Given the description of an element on the screen output the (x, y) to click on. 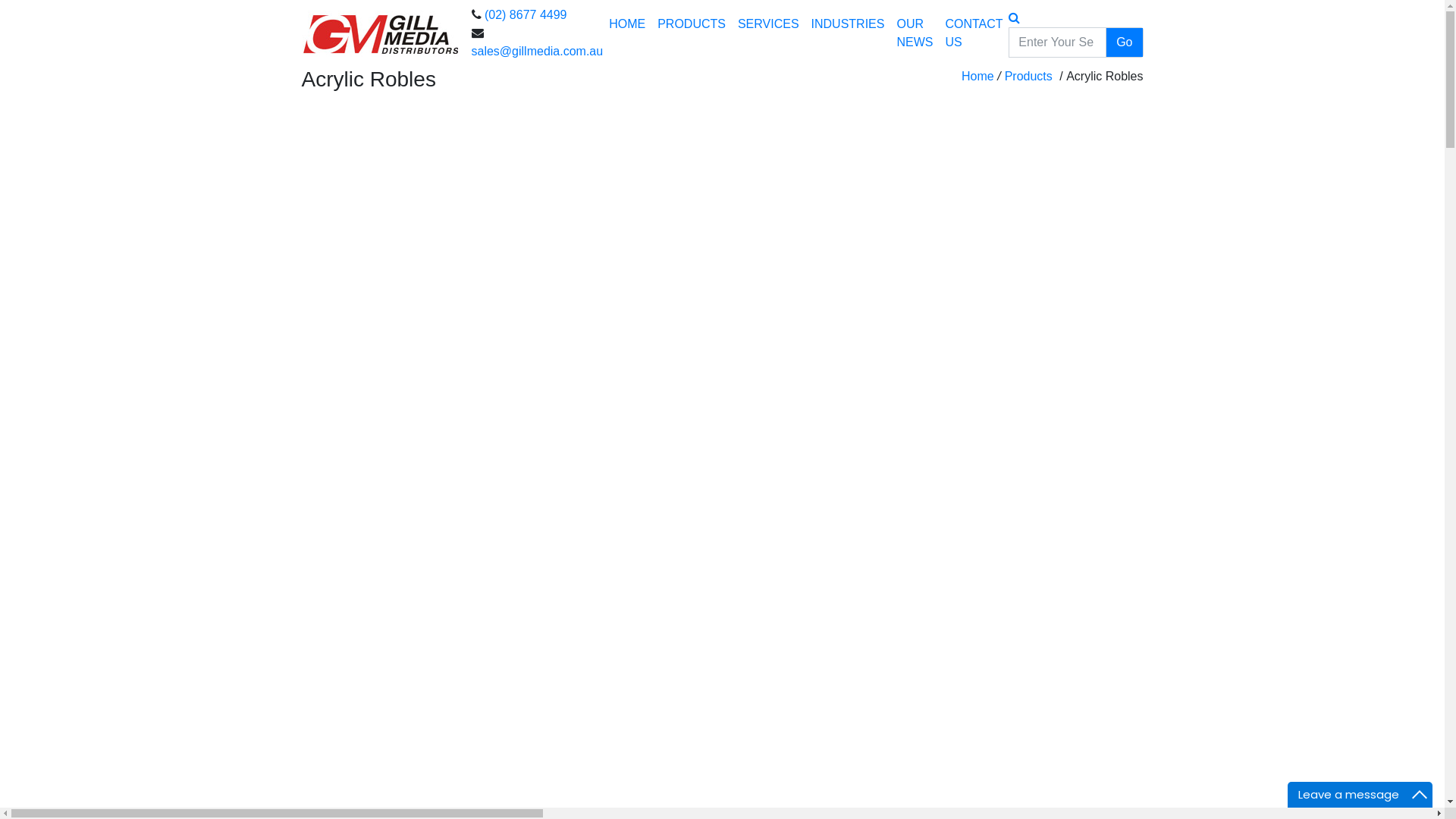
HOME Element type: text (626, 24)
Products Element type: text (1028, 75)
sales@gillmedia.com.au Element type: text (537, 50)
CONTACT US Element type: text (973, 33)
SERVICES Element type: text (768, 24)
PRODUCTS Element type: text (691, 24)
INDUSTRIES Element type: text (848, 24)
Home Element type: text (977, 75)
OUR NEWS Element type: text (914, 33)
Go Element type: text (1124, 42)
Maximize Element type: hover (1419, 794)
(02) 8677 4499 Element type: text (525, 14)
